Given the description of an element on the screen output the (x, y) to click on. 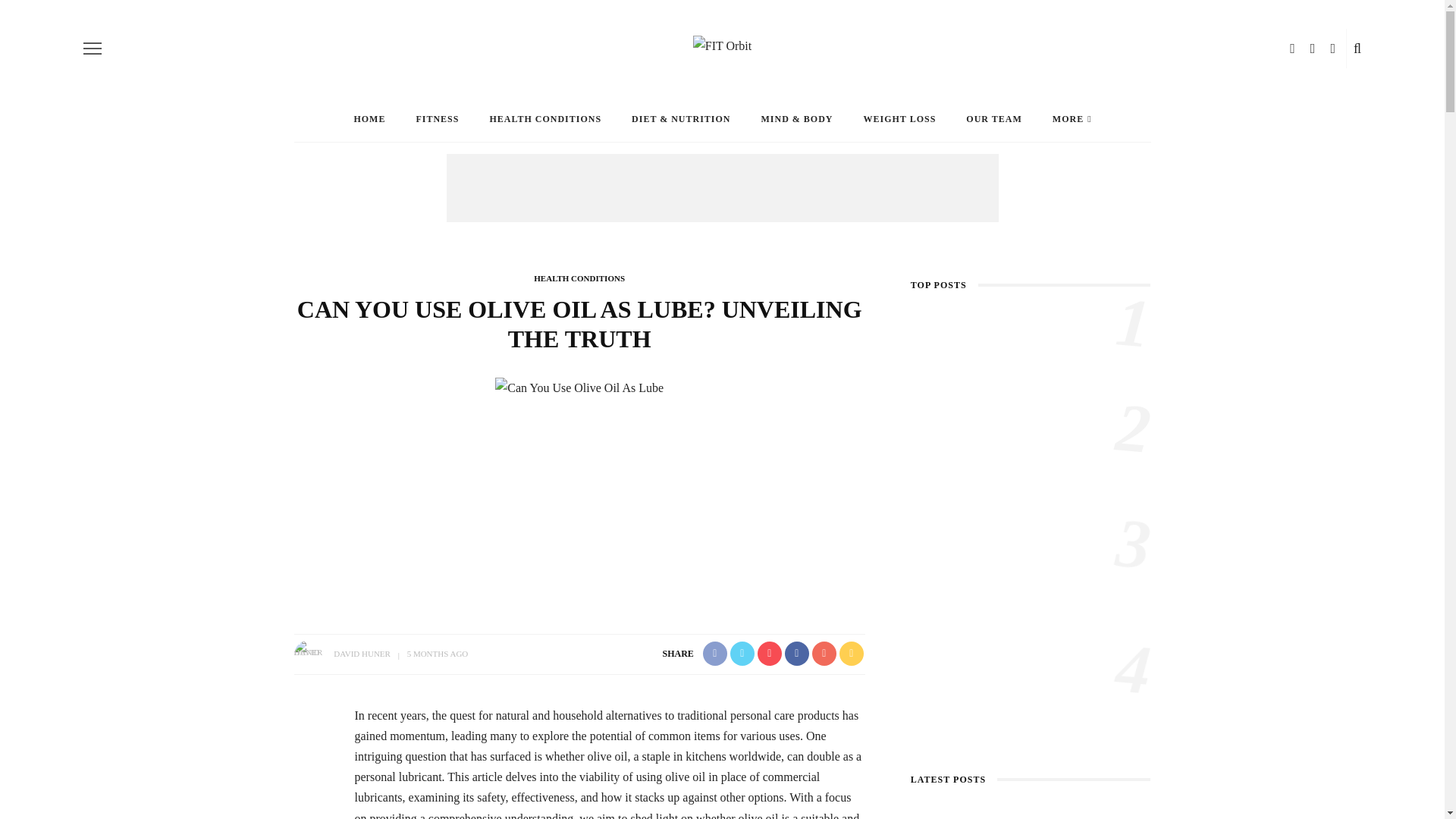
OUR TEAM (993, 118)
HEALTH CONDITIONS (579, 277)
MORE (1071, 118)
WEIGHT LOSS (900, 118)
Can You Use Olive Oil As Lube? Unveiling The Truth (579, 386)
HOME (368, 118)
FITNESS (437, 118)
DAVID HUNER (361, 653)
off canvas button (91, 48)
Post by David Huner (361, 653)
HEALTH CONDITIONS (544, 118)
